Given the description of an element on the screen output the (x, y) to click on. 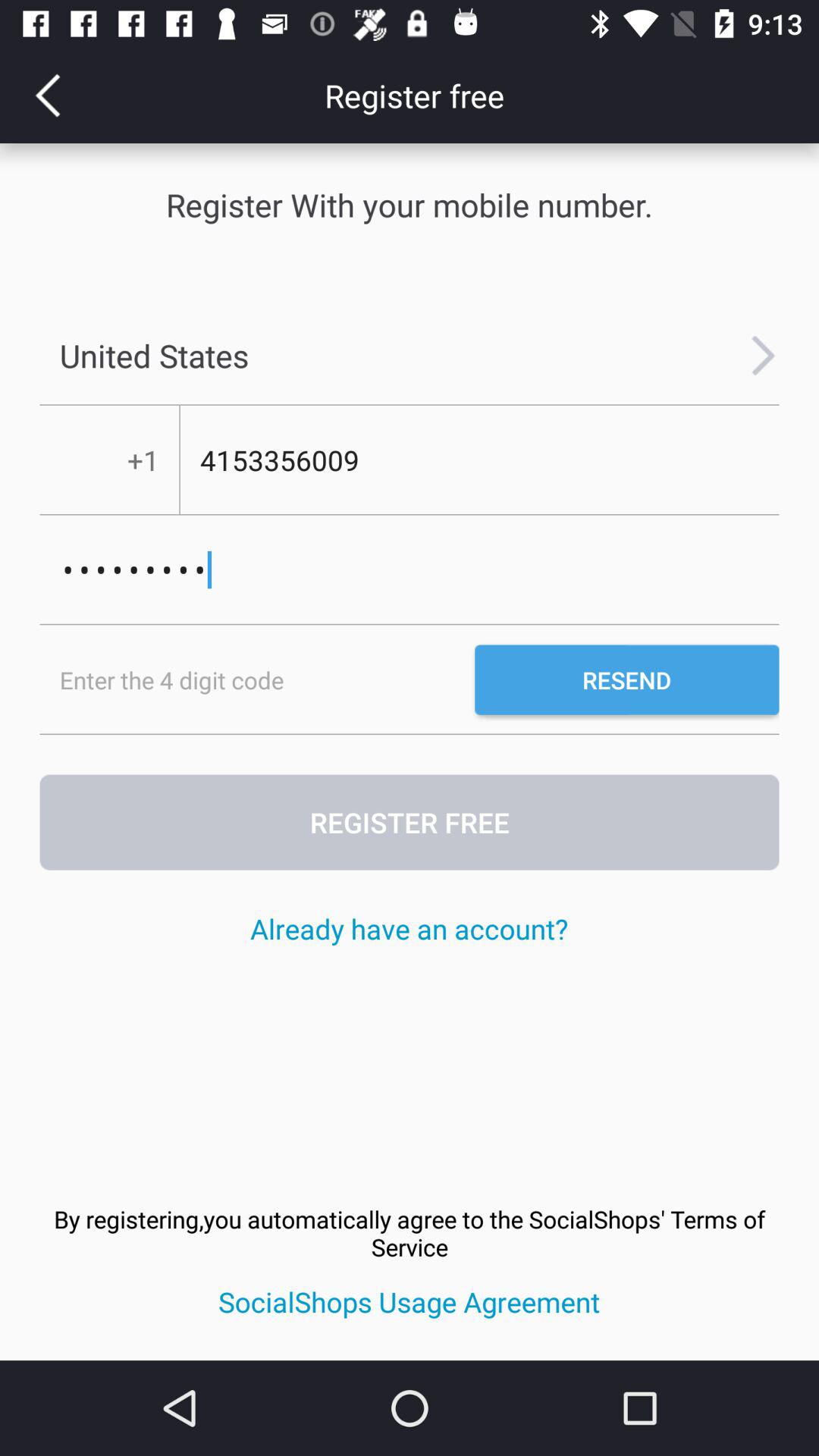
tap the item below the register free icon (409, 928)
